Given the description of an element on the screen output the (x, y) to click on. 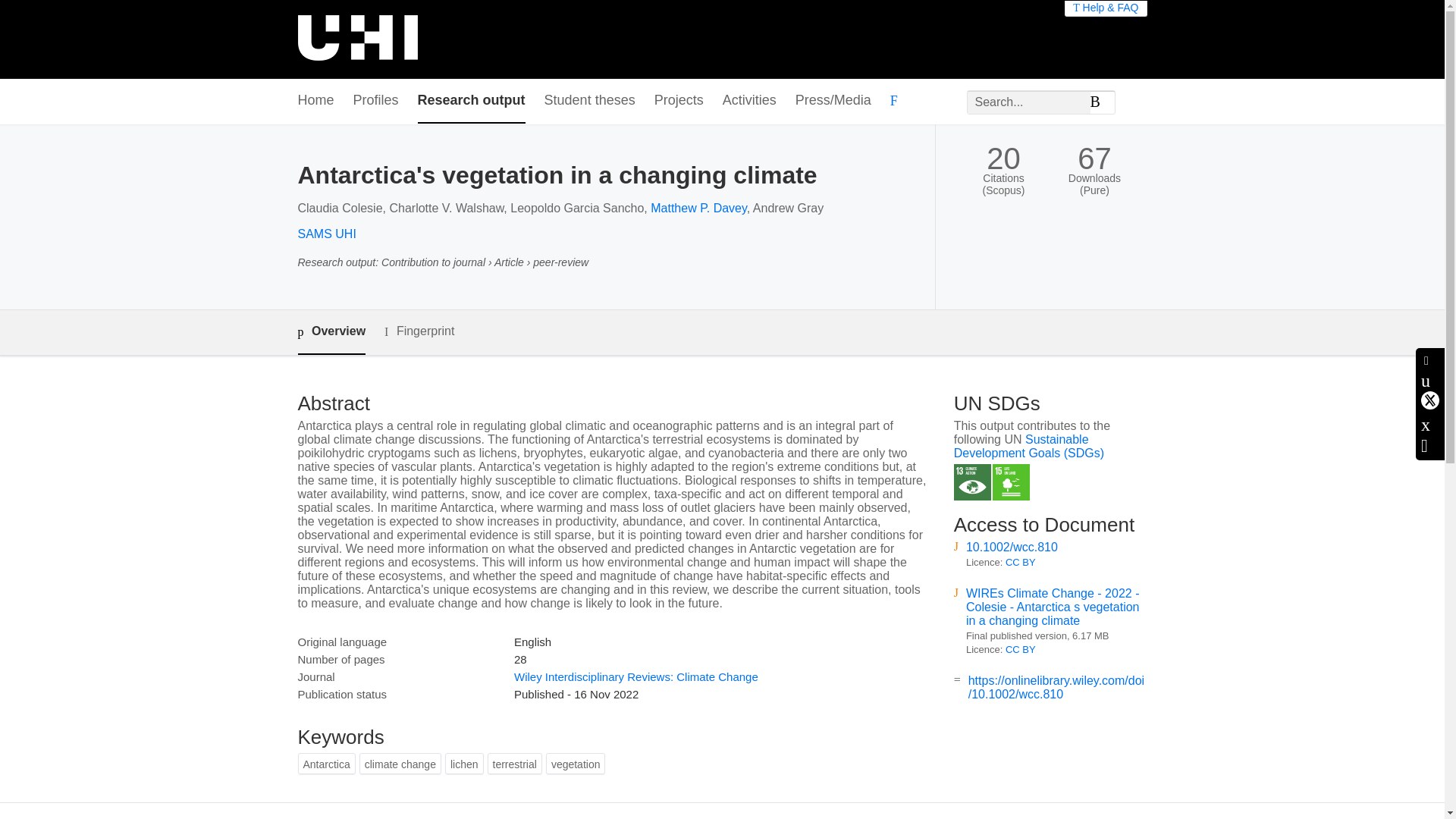
CC BY (1020, 562)
Profiles (375, 100)
SAMS UHI (326, 233)
Wiley Interdisciplinary Reviews: Climate Change (635, 676)
Student theses (589, 100)
SDG 15 - Life on Land (1010, 482)
Matthew P. Davey (698, 207)
Fingerprint (419, 331)
Research output (471, 100)
Activities (749, 100)
Overview (331, 332)
Projects (678, 100)
SDG 13 - Climate Action (972, 482)
